Given the description of an element on the screen output the (x, y) to click on. 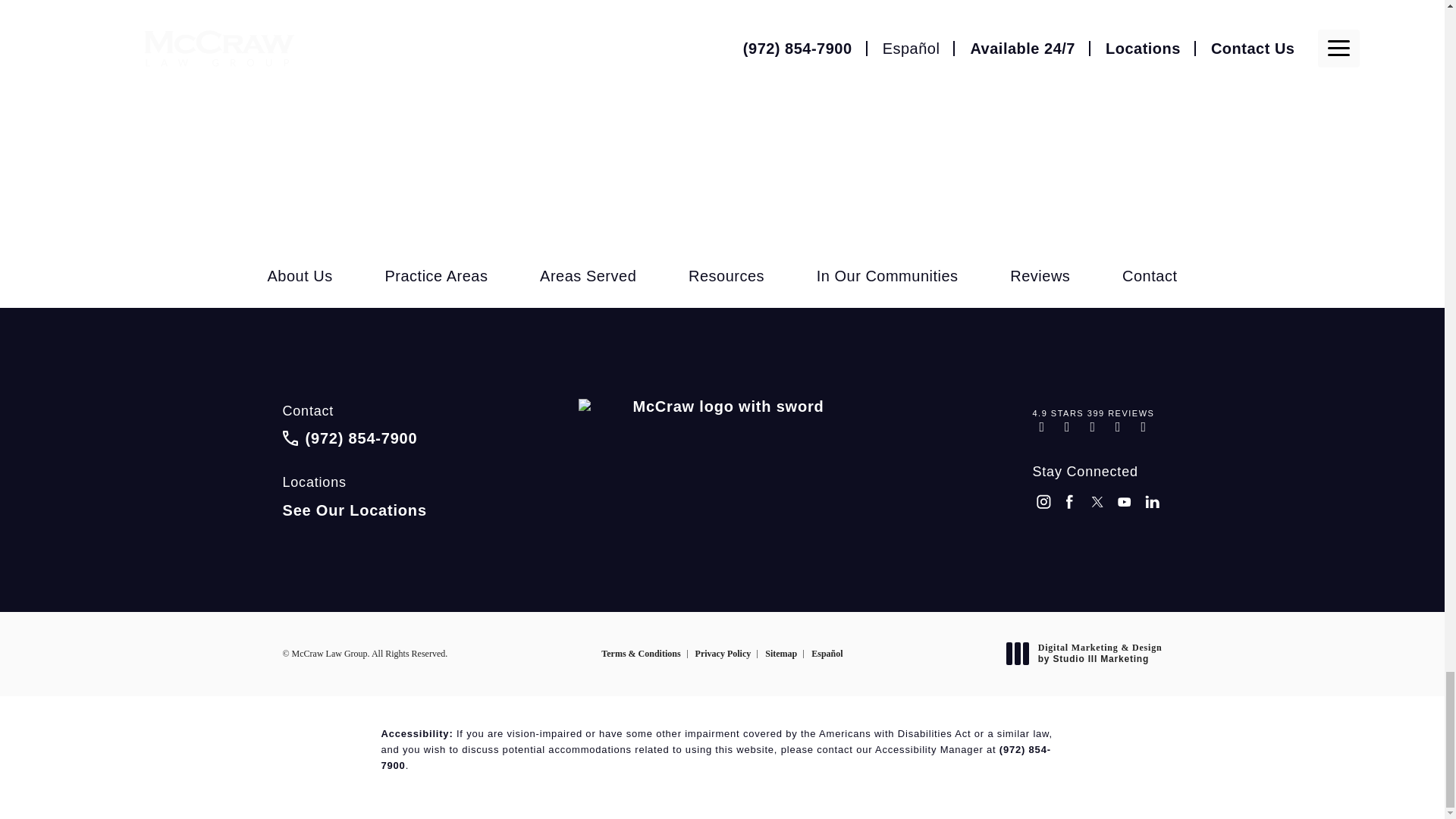
McCraw Law Group on Facebook (1071, 503)
McCraw Law Group on Instagram (1042, 503)
